Given the description of an element on the screen output the (x, y) to click on. 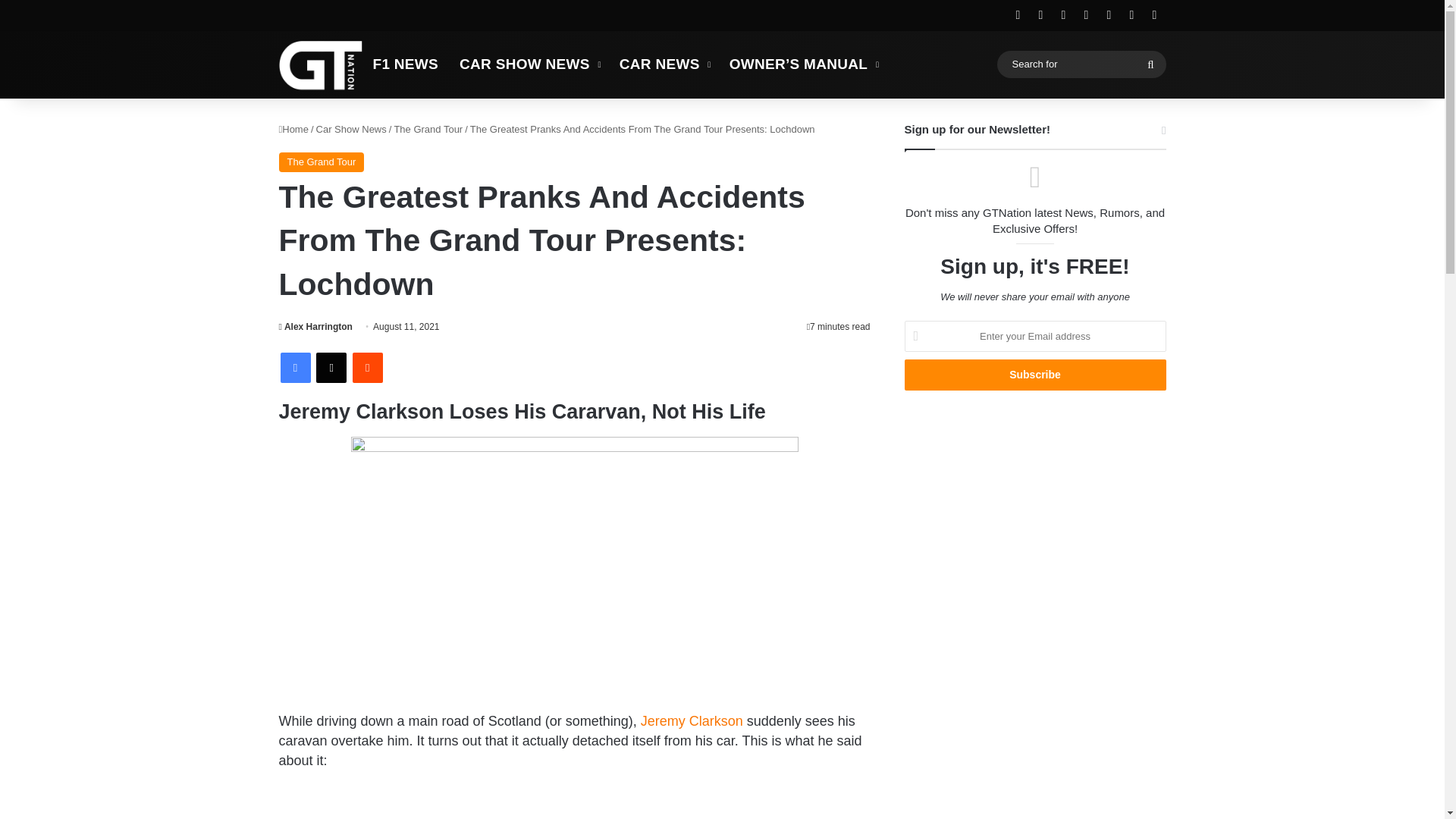
Home (293, 129)
Reddit (367, 367)
Subscribe (1035, 374)
Facebook (296, 367)
X (330, 367)
Alex Harrington (315, 326)
F1 NEWS (405, 64)
Search for (1080, 63)
Reddit (367, 367)
Jeremy Clarkson (691, 720)
Grand Tour Nation (320, 64)
Search for (1150, 63)
Alex Harrington (315, 326)
Facebook (296, 367)
CAR NEWS (663, 64)
